Given the description of an element on the screen output the (x, y) to click on. 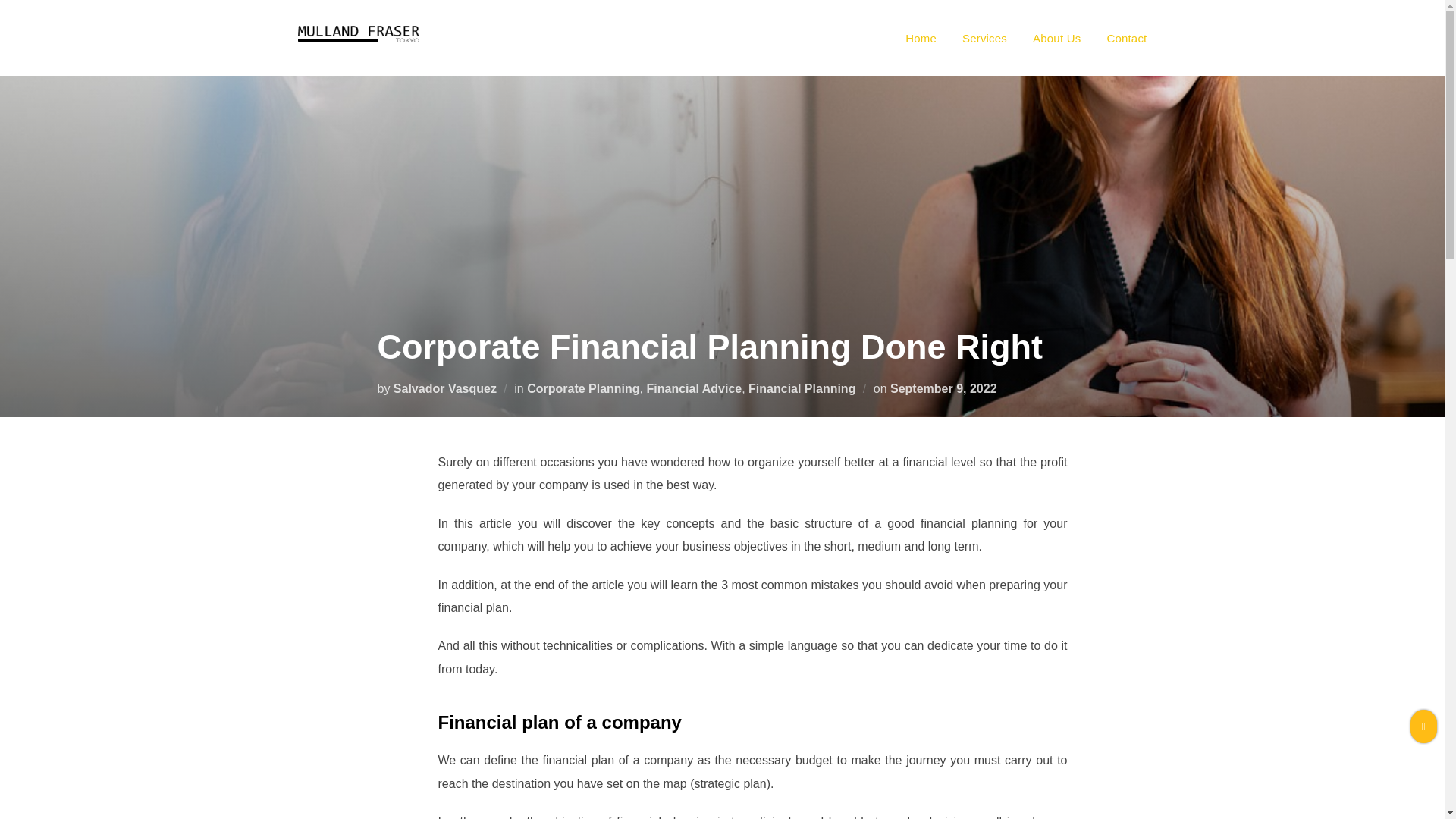
Services (984, 37)
About Us (1056, 37)
Financial Planning (802, 388)
Contact (1126, 37)
Home (920, 37)
Salvador Vasquez (444, 388)
Corporate Planning (583, 388)
Financial Advice (693, 388)
September 9, 2022 (943, 388)
